Given the description of an element on the screen output the (x, y) to click on. 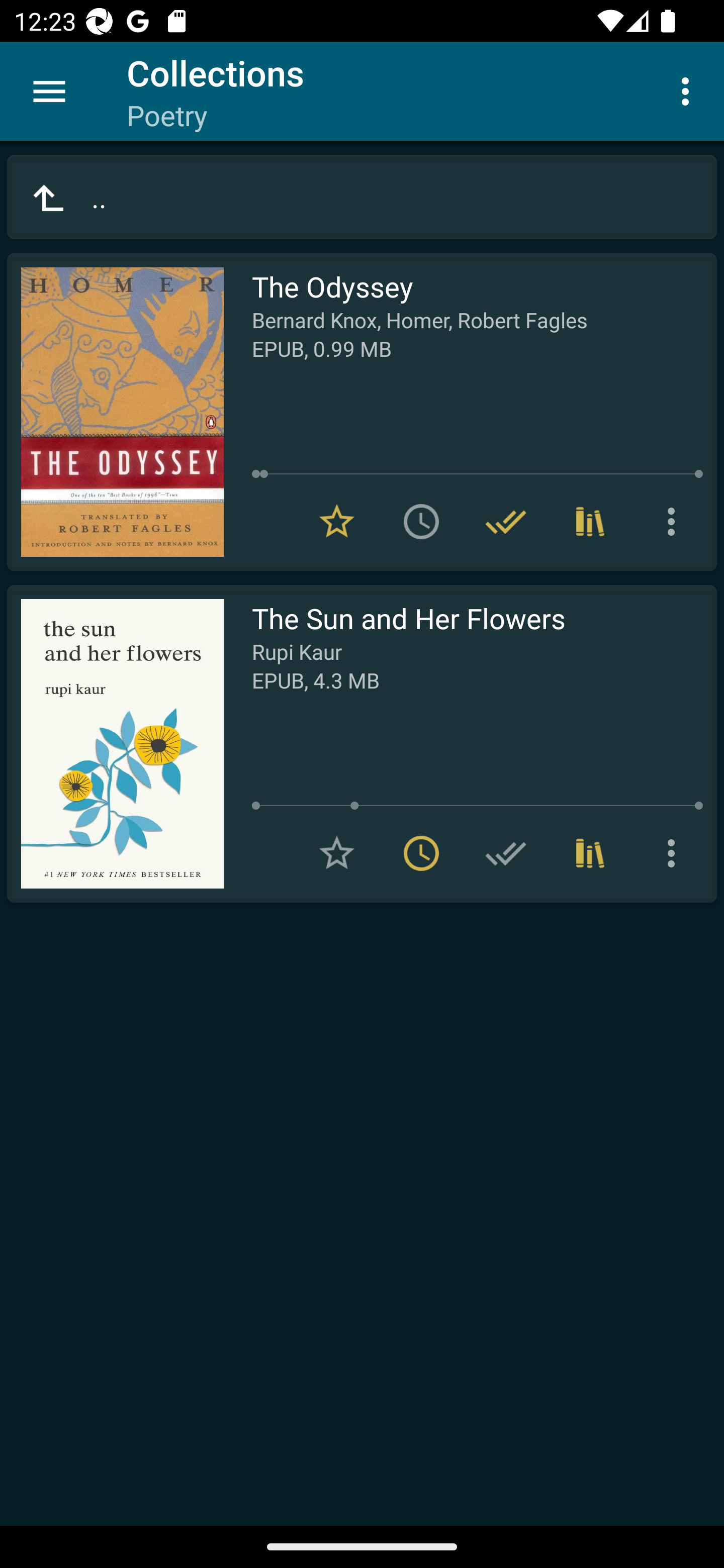
Menu (49, 91)
More options (688, 90)
.. (361, 197)
Read The Odyssey (115, 412)
Remove from Favorites (336, 521)
Add to To read (421, 521)
Remove from Have read (505, 521)
Collections (2) (590, 521)
More options (674, 521)
Read The Sun and Her Flowers (115, 743)
Add to Favorites (336, 852)
Remove from To read (421, 852)
Add to Have read (505, 852)
Collections (1) (590, 852)
More options (674, 852)
